Given the description of an element on the screen output the (x, y) to click on. 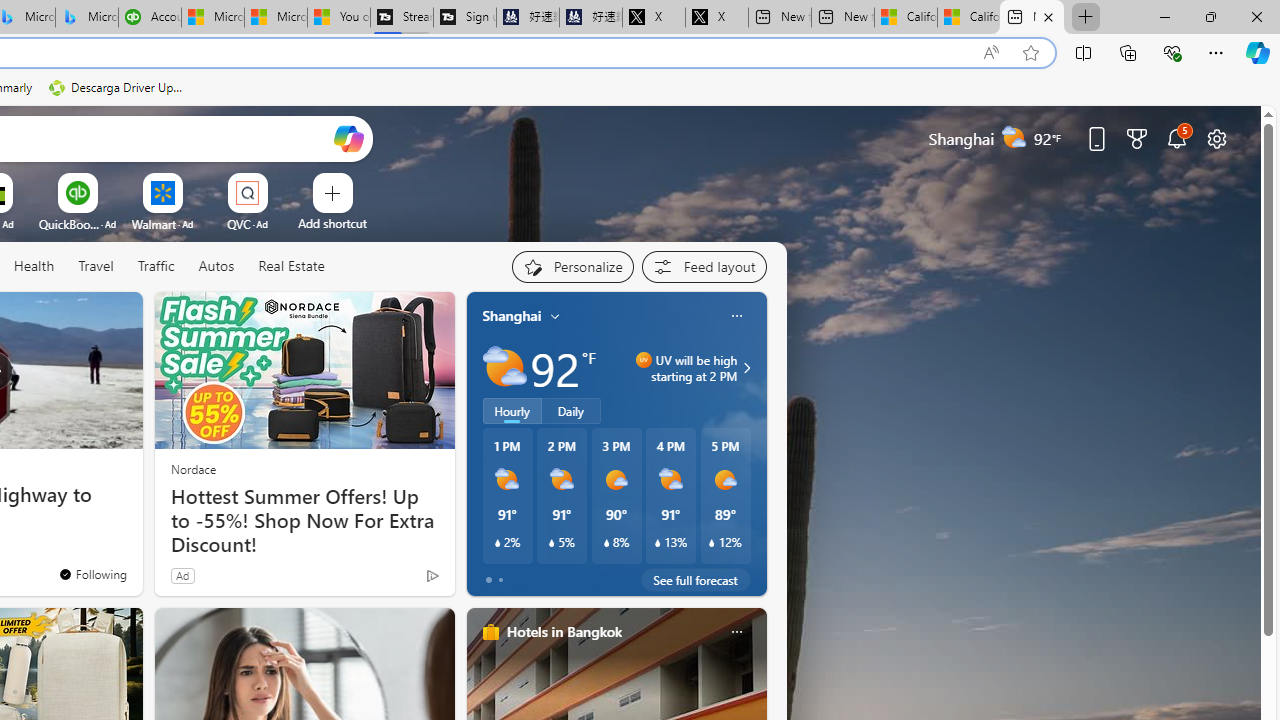
Hourly (511, 411)
UV will be high starting at 2 PM (744, 367)
